Given the description of an element on the screen output the (x, y) to click on. 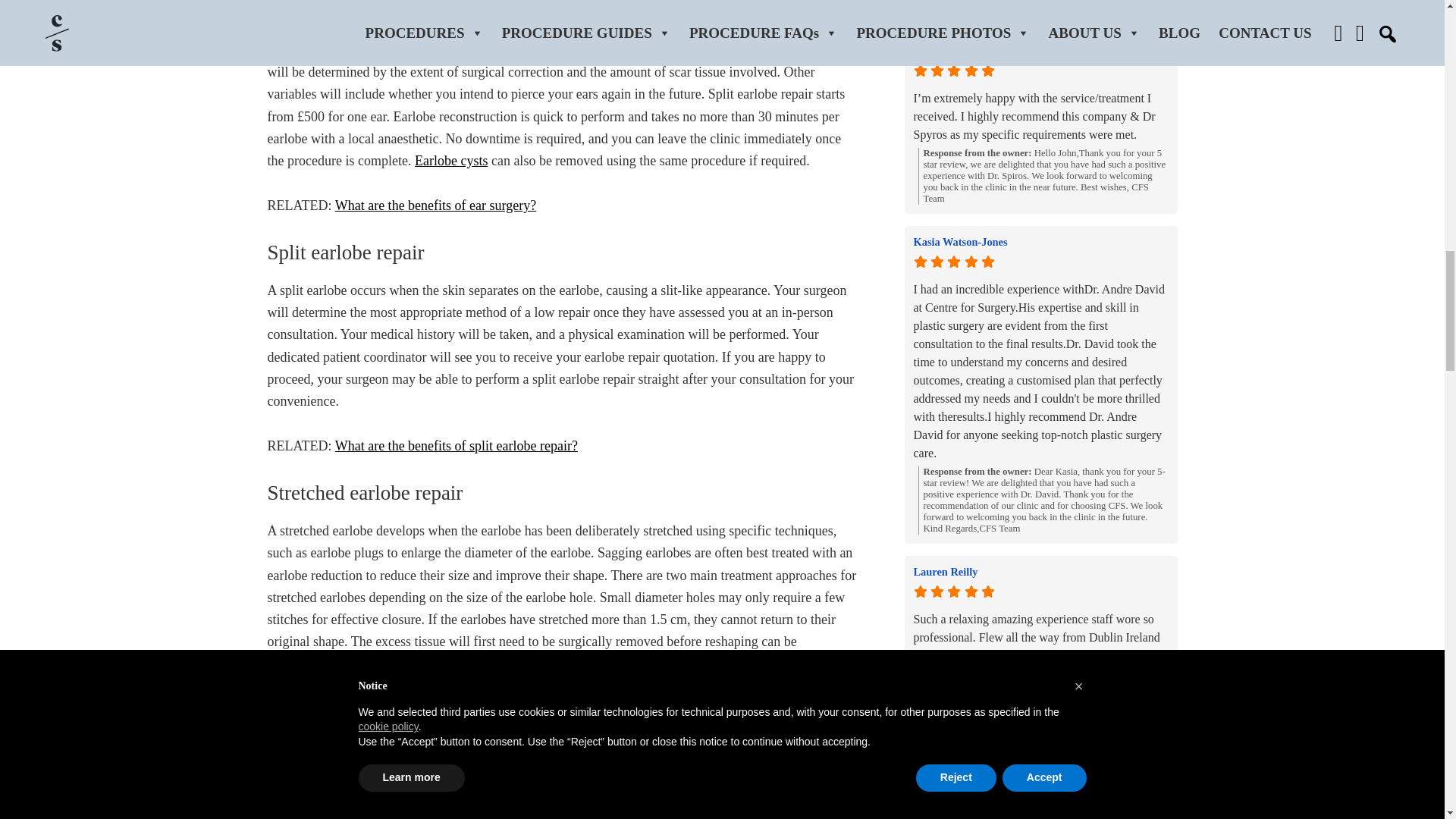
Lauren Reilly (1039, 571)
John Hurley (1039, 50)
Kasia Watson-Jones (1039, 241)
